Given the description of an element on the screen output the (x, y) to click on. 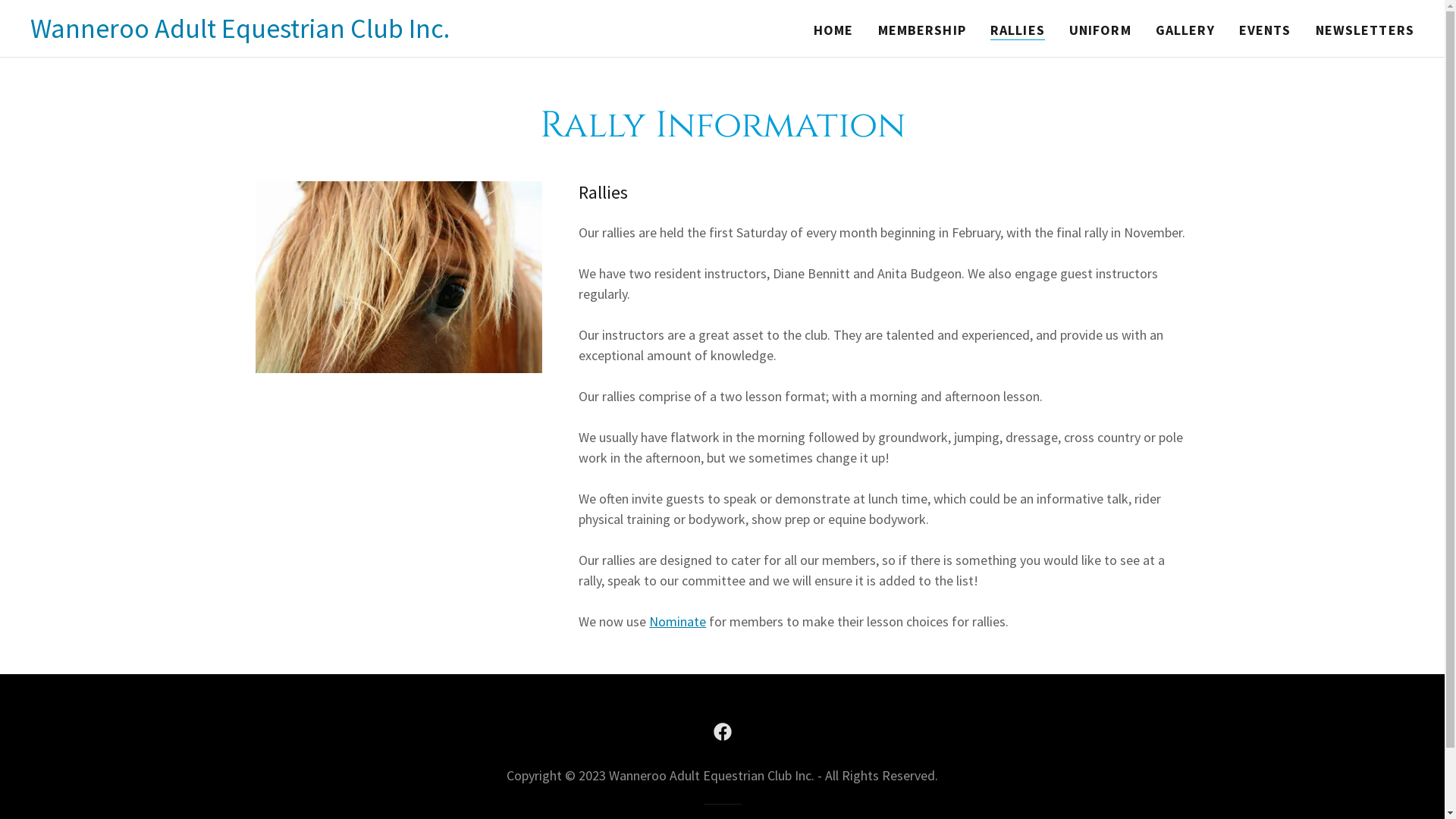
NEWSLETTERS Element type: text (1364, 29)
HOME Element type: text (833, 29)
Wanneroo Adult Equestrian Club Inc. Element type: text (239, 32)
UNIFORM Element type: text (1099, 29)
GALLERY Element type: text (1185, 29)
MEMBERSHIP Element type: text (921, 29)
RALLIES Element type: text (1017, 30)
Nominate Element type: text (677, 621)
EVENTS Element type: text (1264, 29)
